Given the description of an element on the screen output the (x, y) to click on. 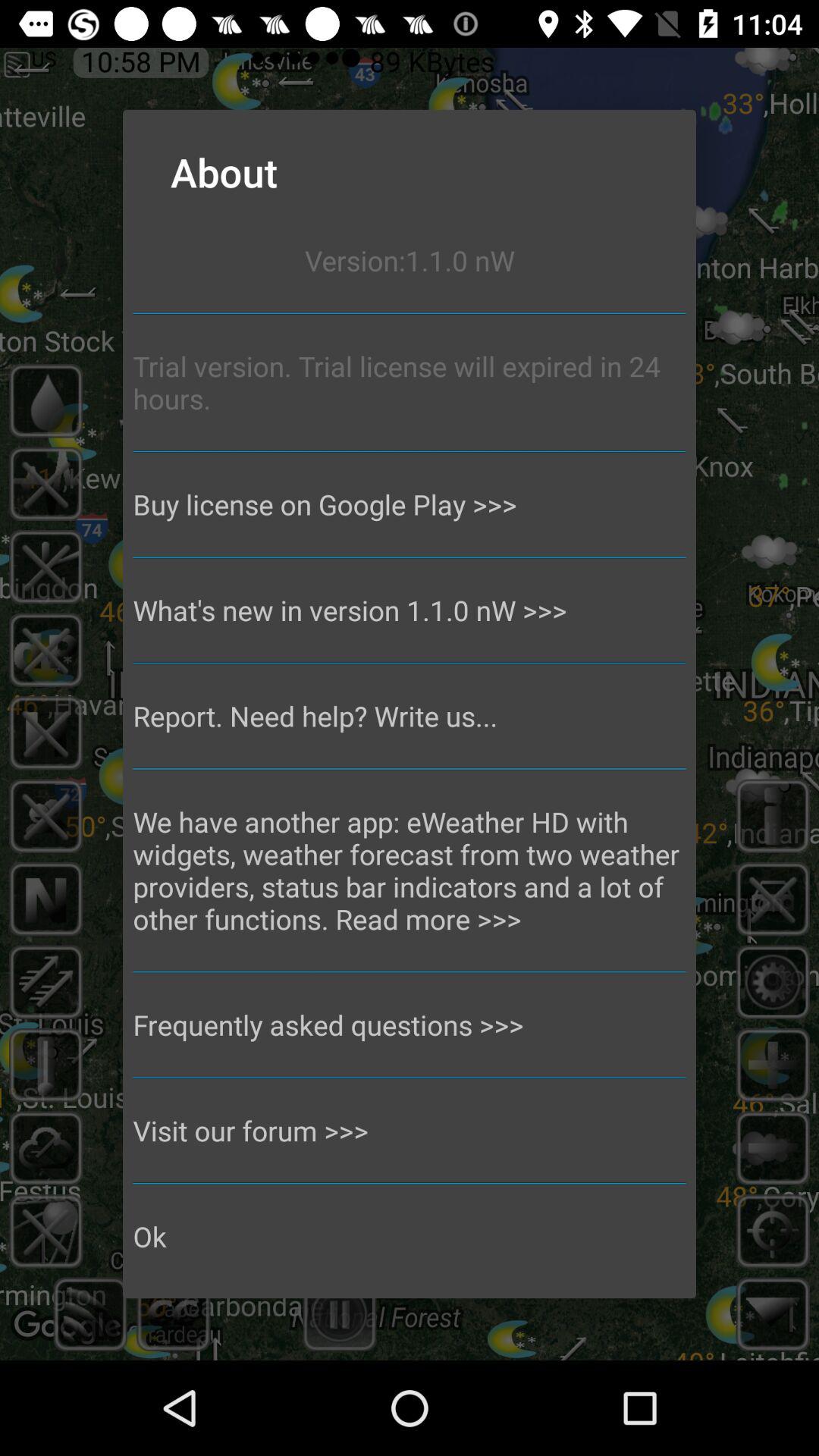
jump until the ok app (409, 1236)
